Given the description of an element on the screen output the (x, y) to click on. 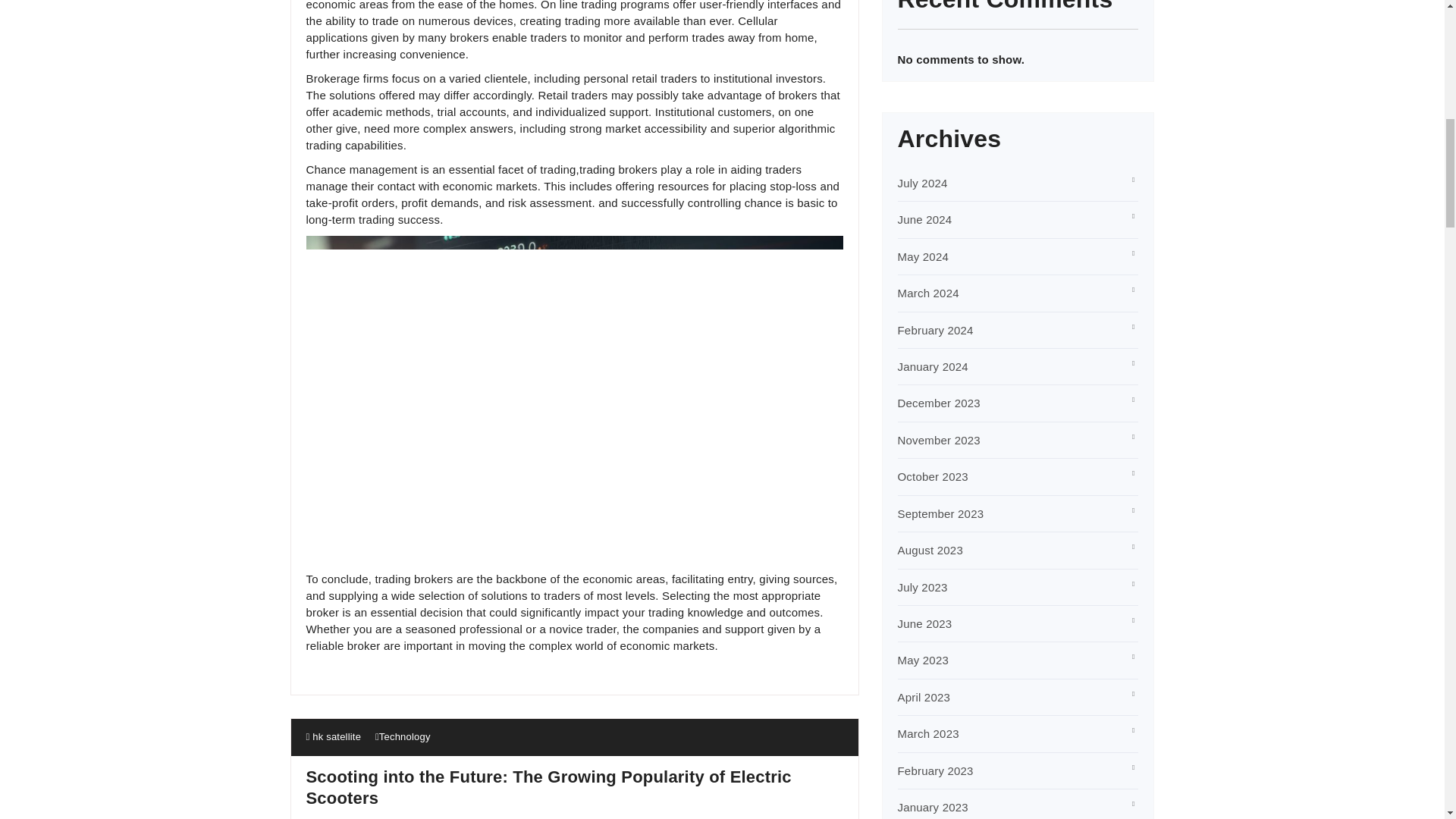
hk satellite (333, 736)
Technology (404, 736)
